Given the description of an element on the screen output the (x, y) to click on. 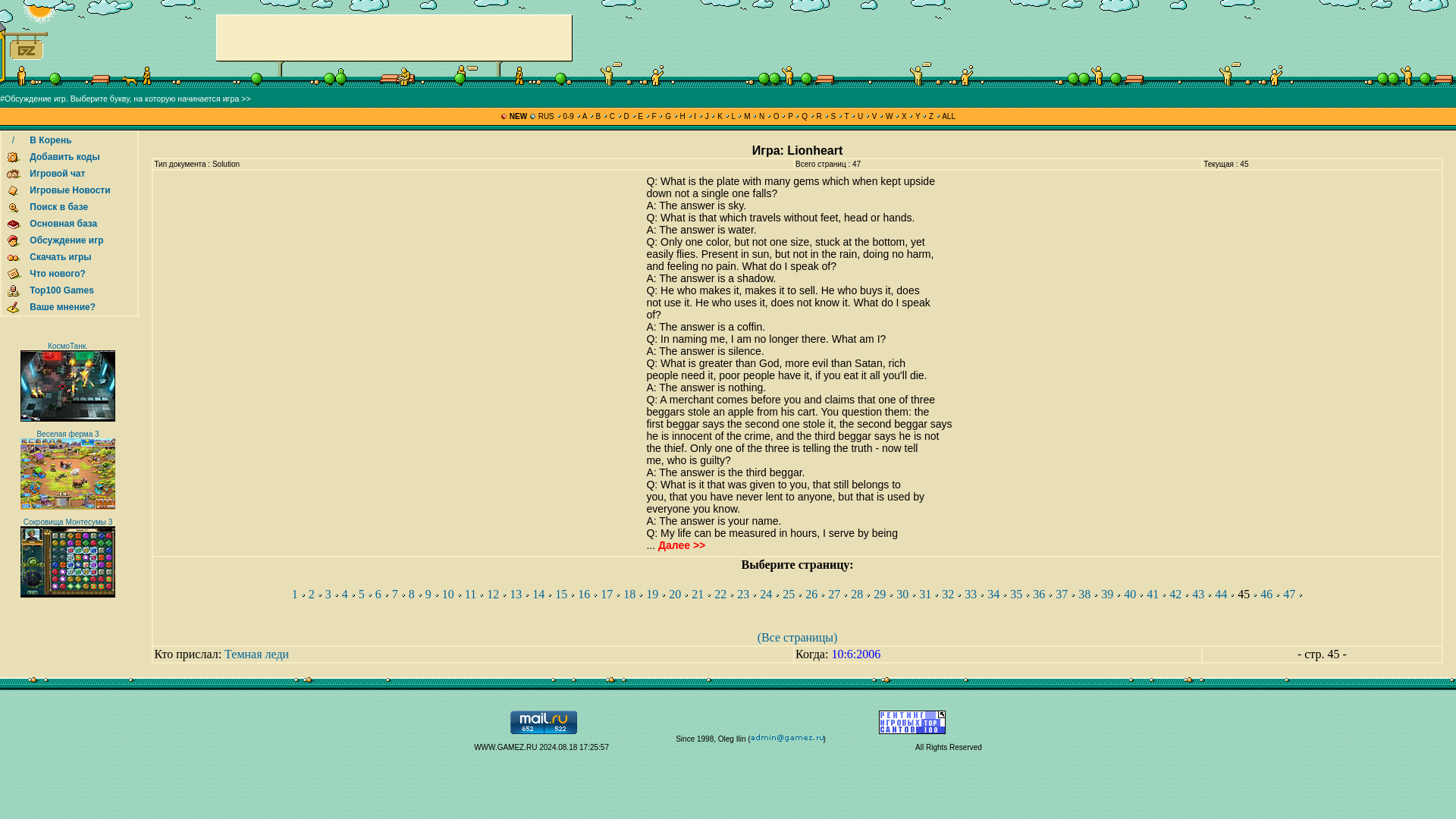
C (612, 116)
ALL (947, 116)
X (903, 116)
U (860, 116)
O (775, 116)
Y (916, 116)
K (718, 116)
R (818, 116)
P (790, 116)
L (733, 116)
